Given the description of an element on the screen output the (x, y) to click on. 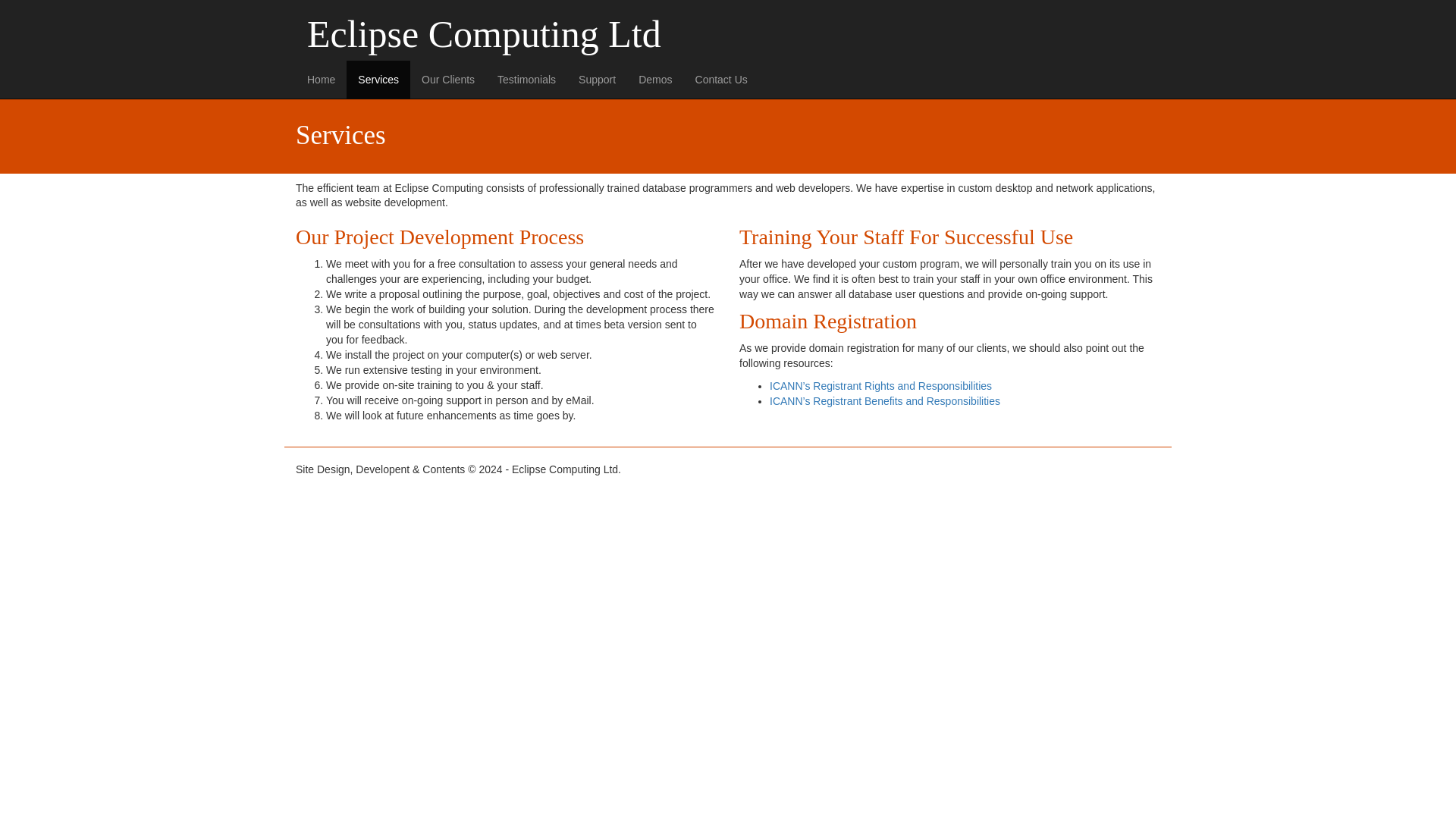
Our Clients (448, 79)
Home (320, 79)
Eclipse Computing Ltd (727, 34)
Testimonials (526, 79)
Services (378, 79)
Support (597, 79)
Contact Us (721, 79)
Demos (654, 79)
